Given the description of an element on the screen output the (x, y) to click on. 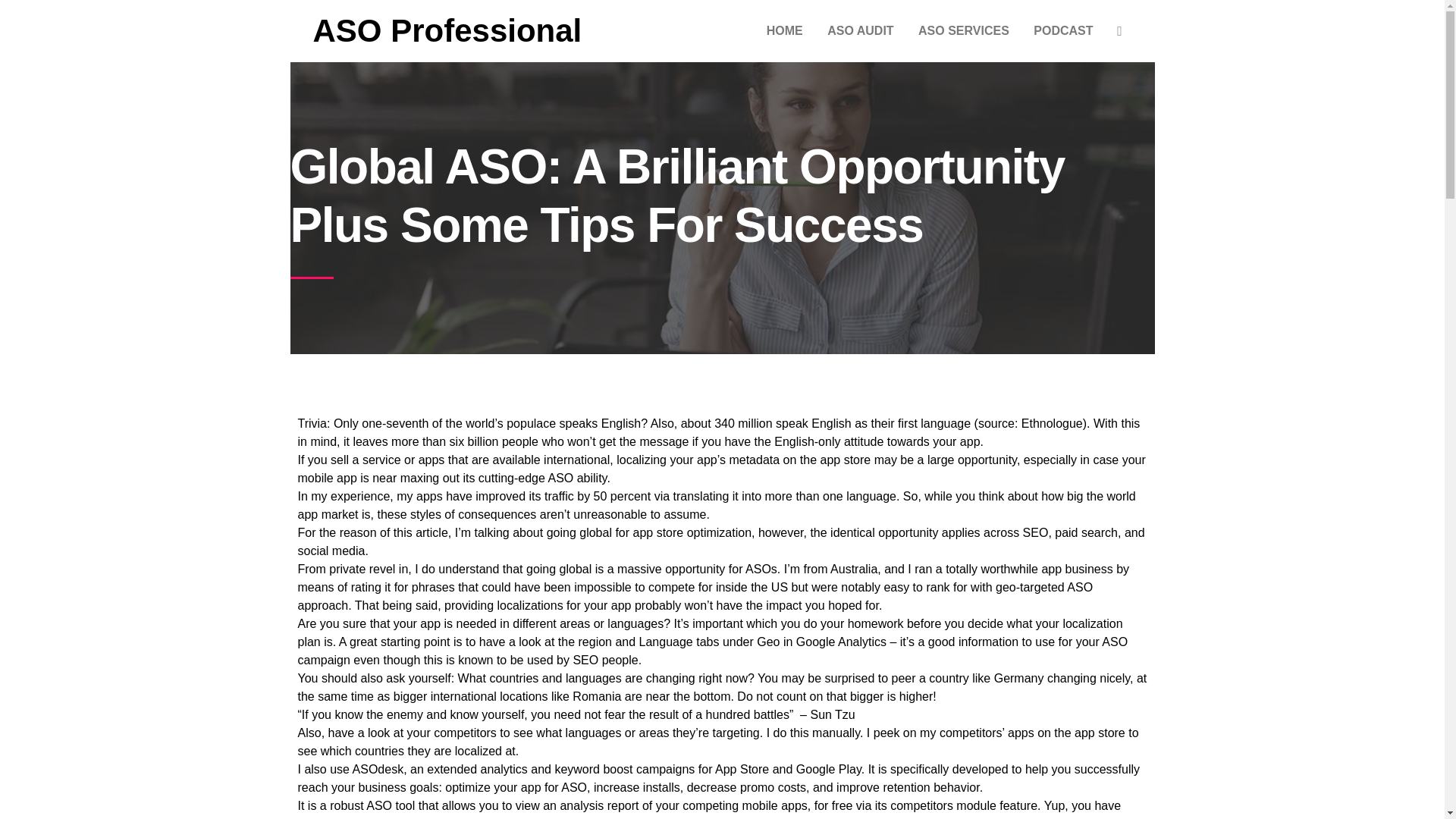
ASO Professional (446, 30)
HOME (784, 30)
ASO AUDIT (860, 30)
ASO SERVICES (963, 30)
PODCAST (1063, 30)
